Given the description of an element on the screen output the (x, y) to click on. 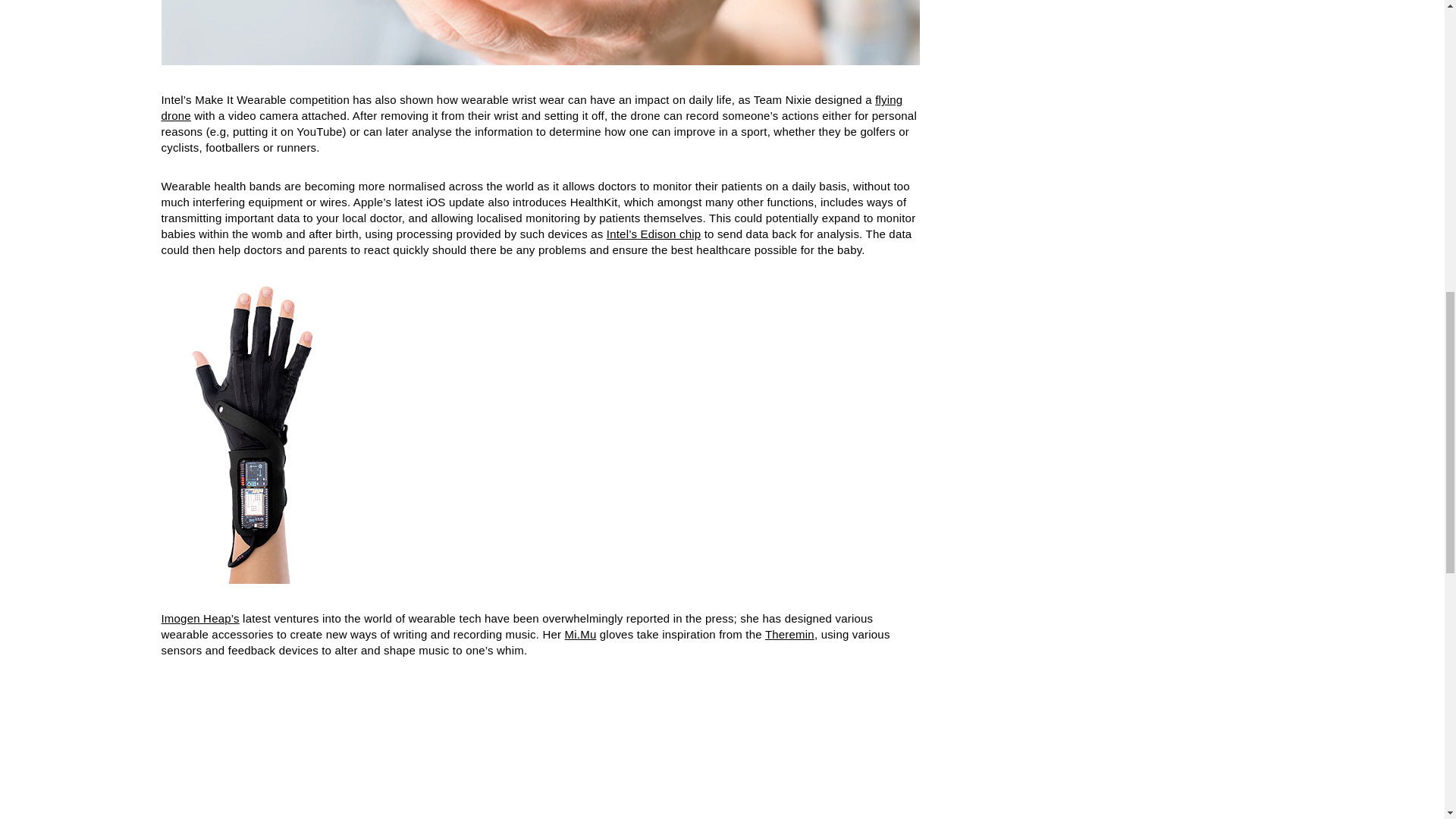
Drones, Privacy and the Postman (531, 107)
Mi.Mu Gloves (580, 634)
flying drone (531, 107)
Intel Edison (653, 233)
Imogen Heap (199, 617)
The Theremin (789, 634)
Mi.Mu (580, 634)
Theremin (789, 634)
